Given the description of an element on the screen output the (x, y) to click on. 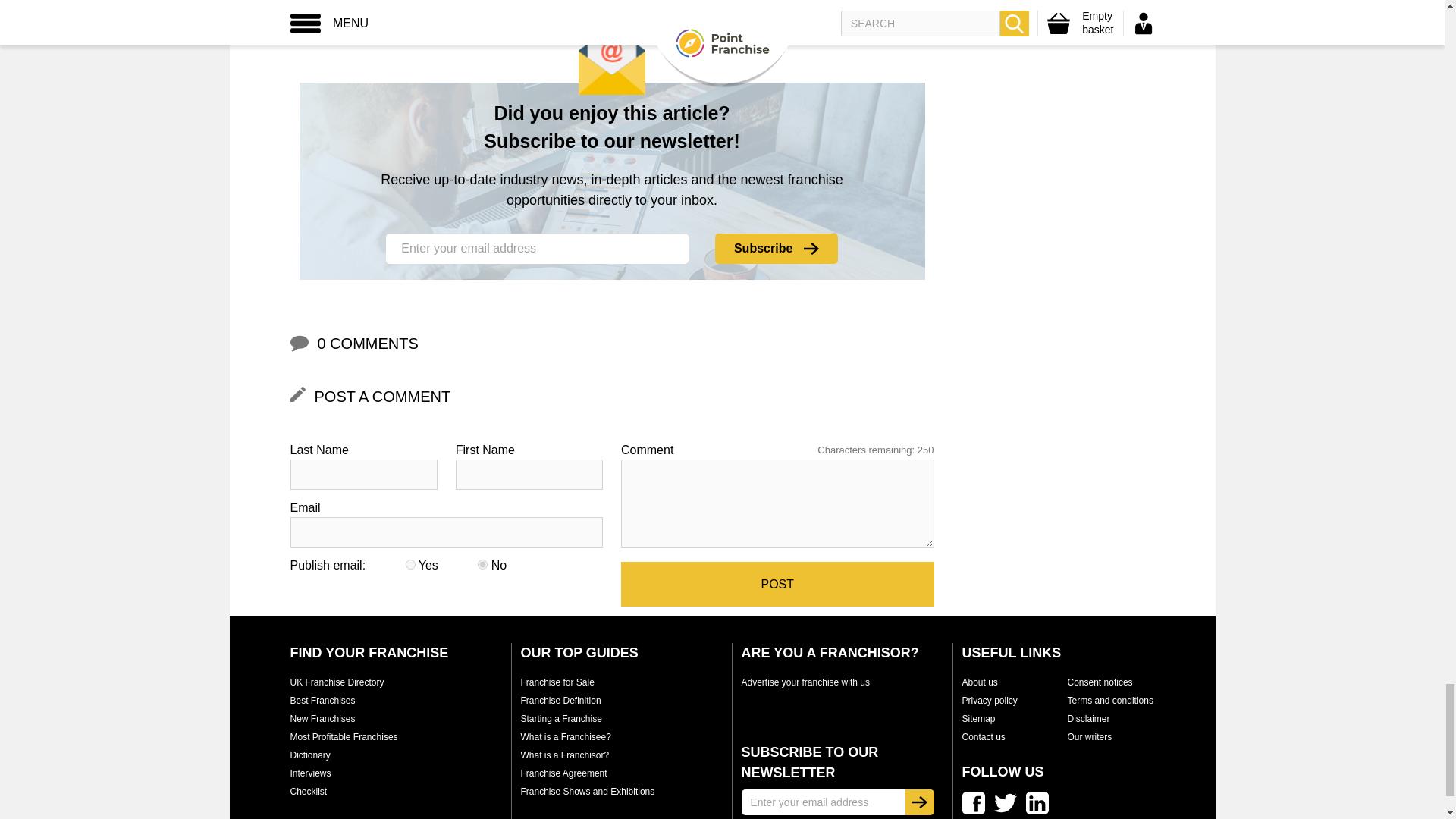
Dictionary (309, 755)
0 (482, 564)
Interviews (309, 773)
Discover UK's best franchises (322, 700)
Discover the newest franchises (322, 718)
Find the most profitable UK franchises (343, 737)
The full UK franchise directory (336, 682)
Checklist (307, 791)
1 (410, 564)
